Given the description of an element on the screen output the (x, y) to click on. 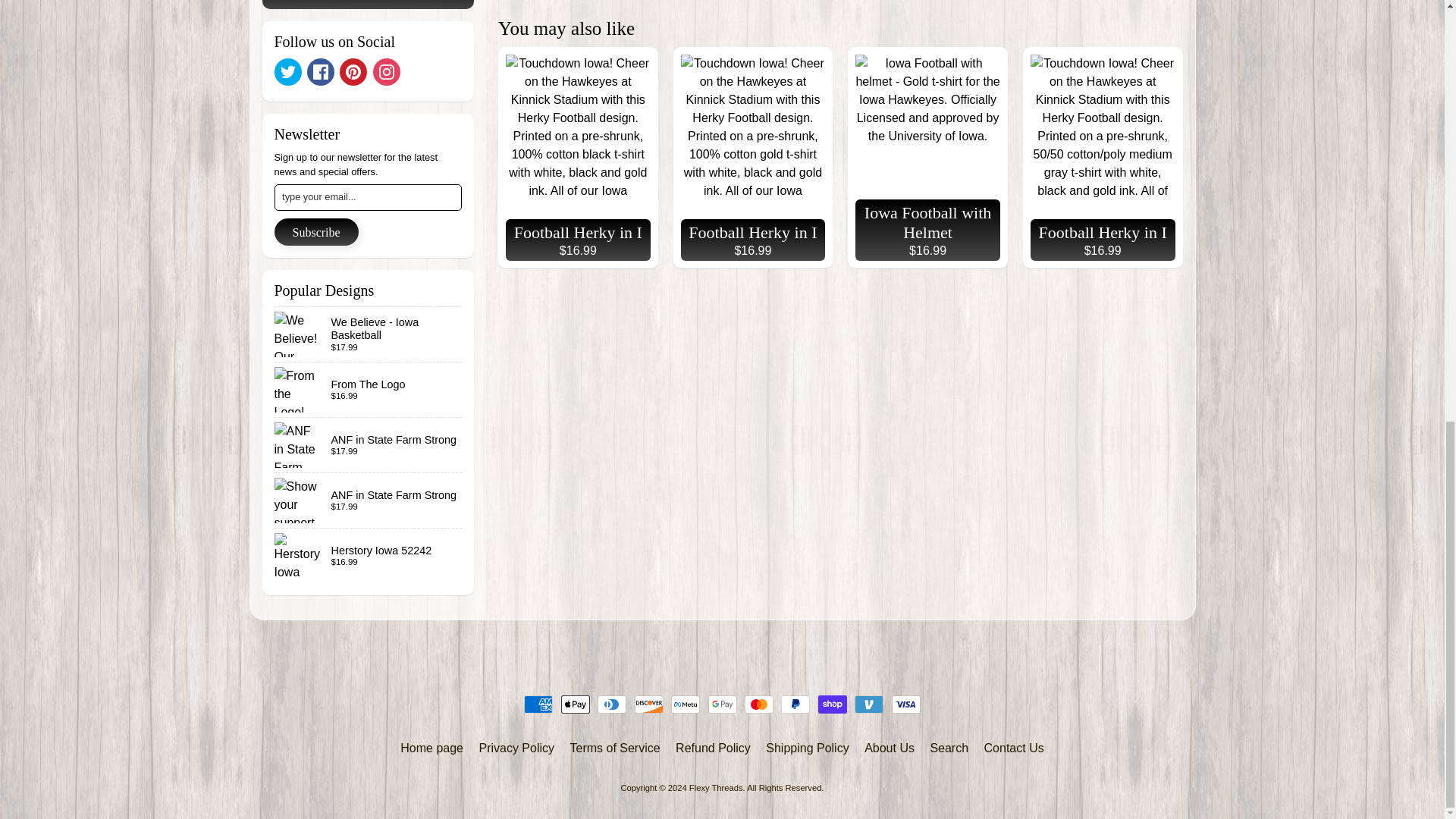
Shop Pay (832, 704)
Diners Club (611, 704)
Herstory Iowa 52242 (369, 555)
ANF in State Farm Strong (369, 500)
ANF in State Farm Strong (369, 444)
American Express (538, 704)
Facebook (320, 71)
Visa (905, 704)
Pinterest (352, 71)
PayPal (794, 704)
Google Pay (721, 704)
Instagram (386, 71)
Twitter (288, 71)
Discover (648, 704)
Venmo (868, 704)
